Given the description of an element on the screen output the (x, y) to click on. 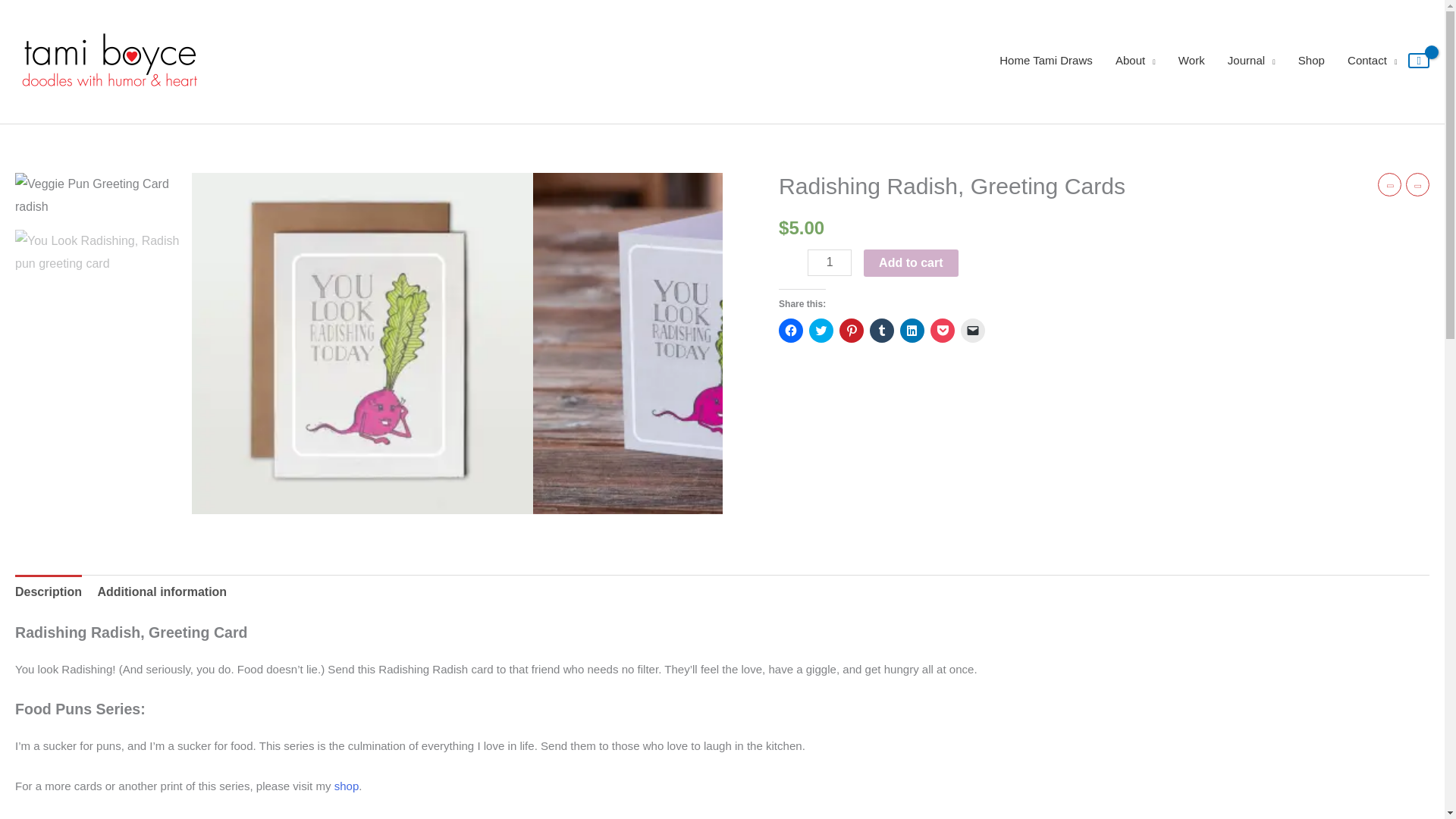
Add to cart (910, 262)
1 (829, 262)
Home Tami Draws (1045, 60)
Click to share on LinkedIn (911, 330)
Click to email a link to a friend (972, 330)
Contact Information (1371, 60)
Description (47, 591)
Work (1191, 60)
Contact (1371, 60)
Click to share on Pinterest (851, 330)
